Given the description of an element on the screen output the (x, y) to click on. 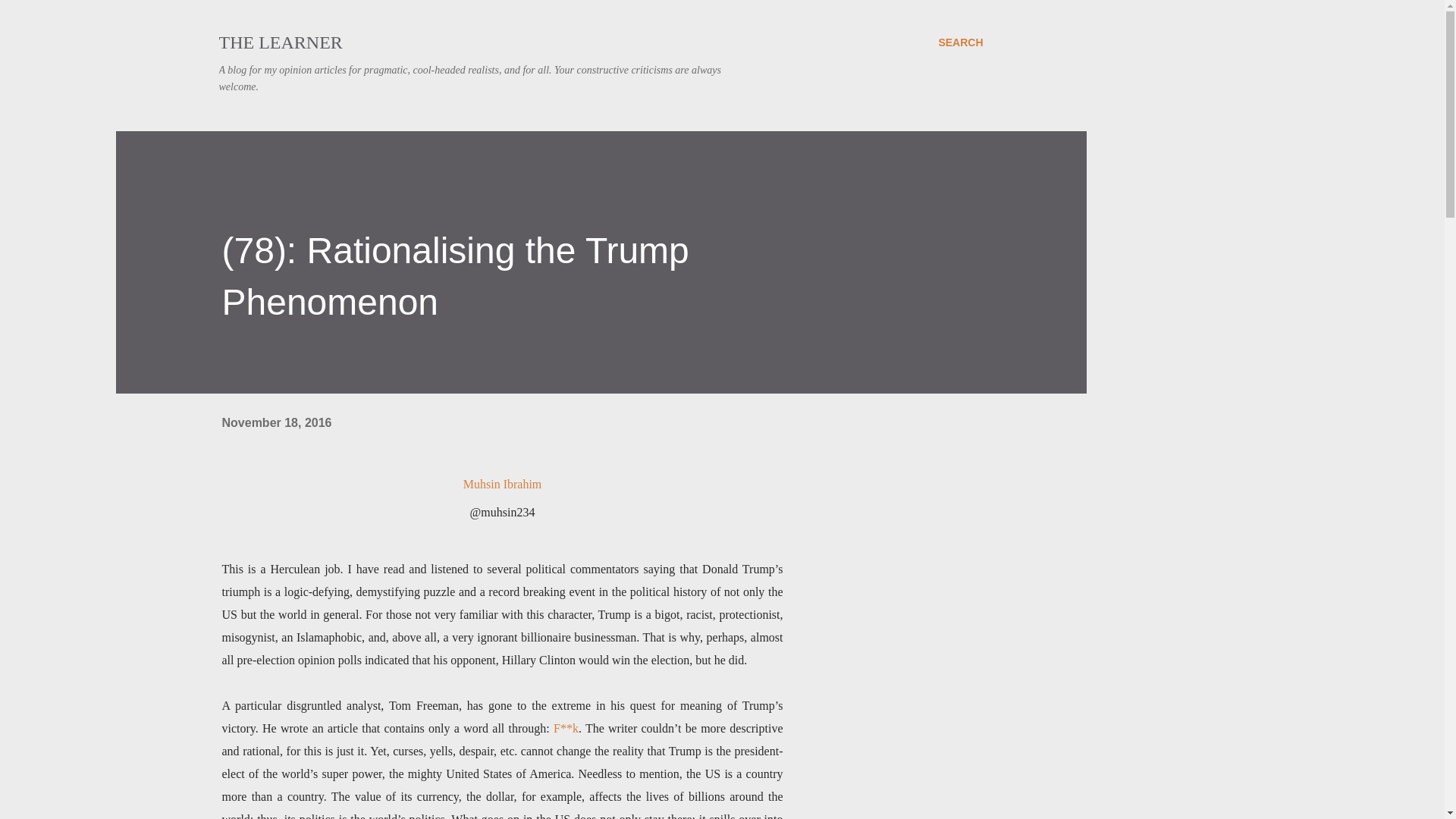
November 18, 2016 (276, 422)
permanent link (276, 422)
SEARCH (959, 42)
THE LEARNER (280, 42)
